Given the description of an element on the screen output the (x, y) to click on. 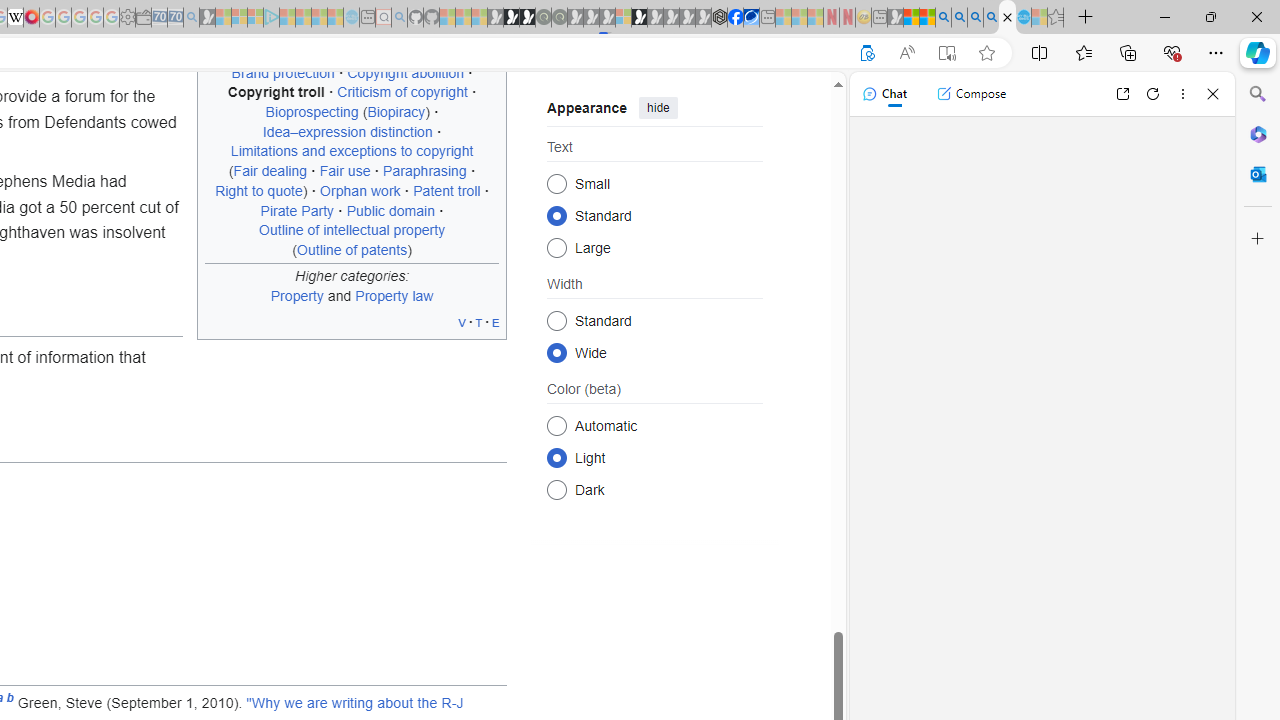
Paraphrasing (424, 171)
Limitations and exceptions to copyright (351, 151)
Public domain (390, 210)
hide (658, 107)
Settings - Sleeping (127, 17)
